Given the description of an element on the screen output the (x, y) to click on. 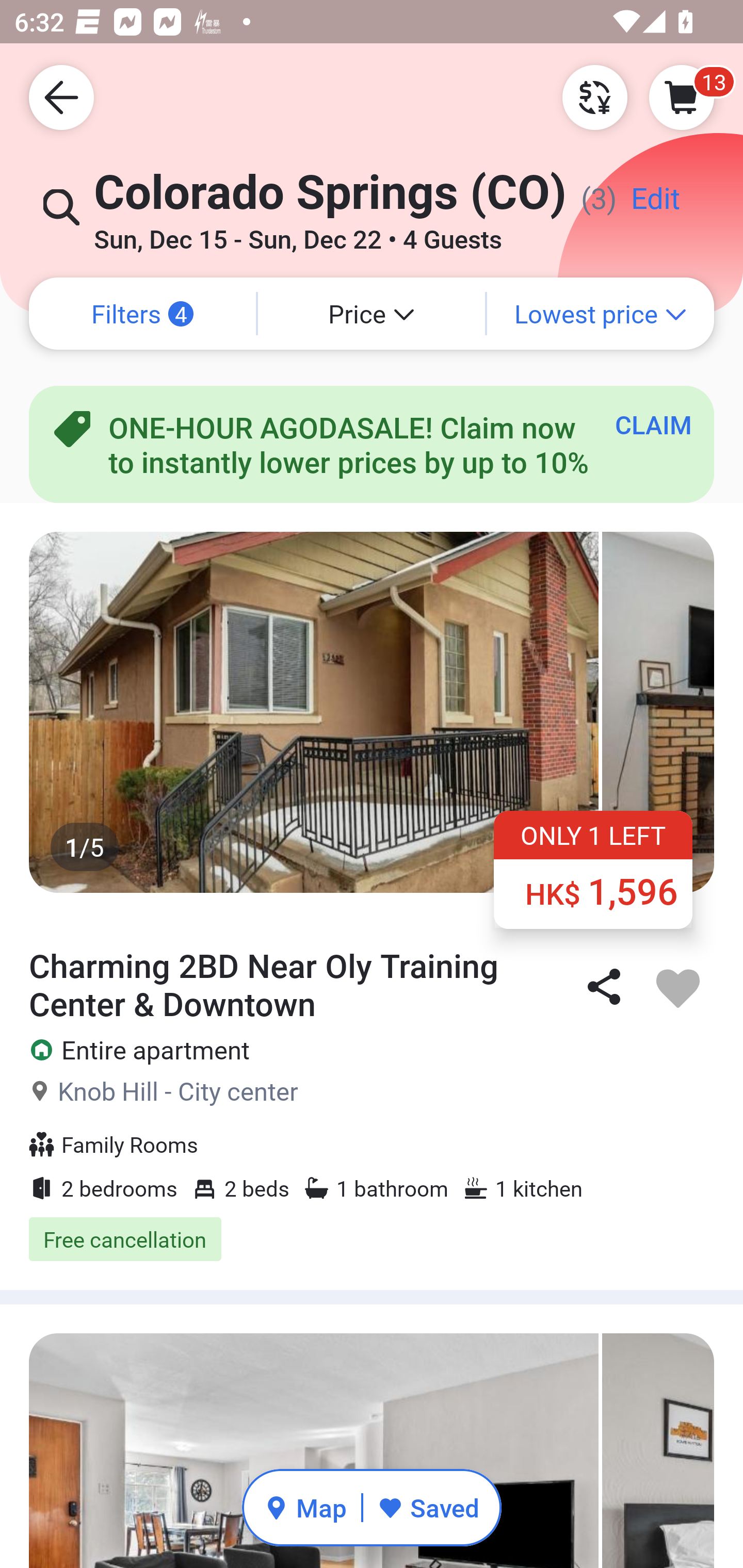
Colorado Springs (CO) (324, 201)
(3) (583, 205)
Edit (655, 205)
Sun, Dec 15 - Sun, Dec 22 • 4 Guests (297, 232)
Filters 4 (141, 313)
Price (371, 313)
Lowest price (600, 313)
CLAIM (653, 424)
1/5 (371, 711)
ONLY 1 LEFT ‪HK$ 1,596 (593, 869)
Free cancellation (371, 1239)
Map (305, 1507)
Saved (428, 1507)
